Given the description of an element on the screen output the (x, y) to click on. 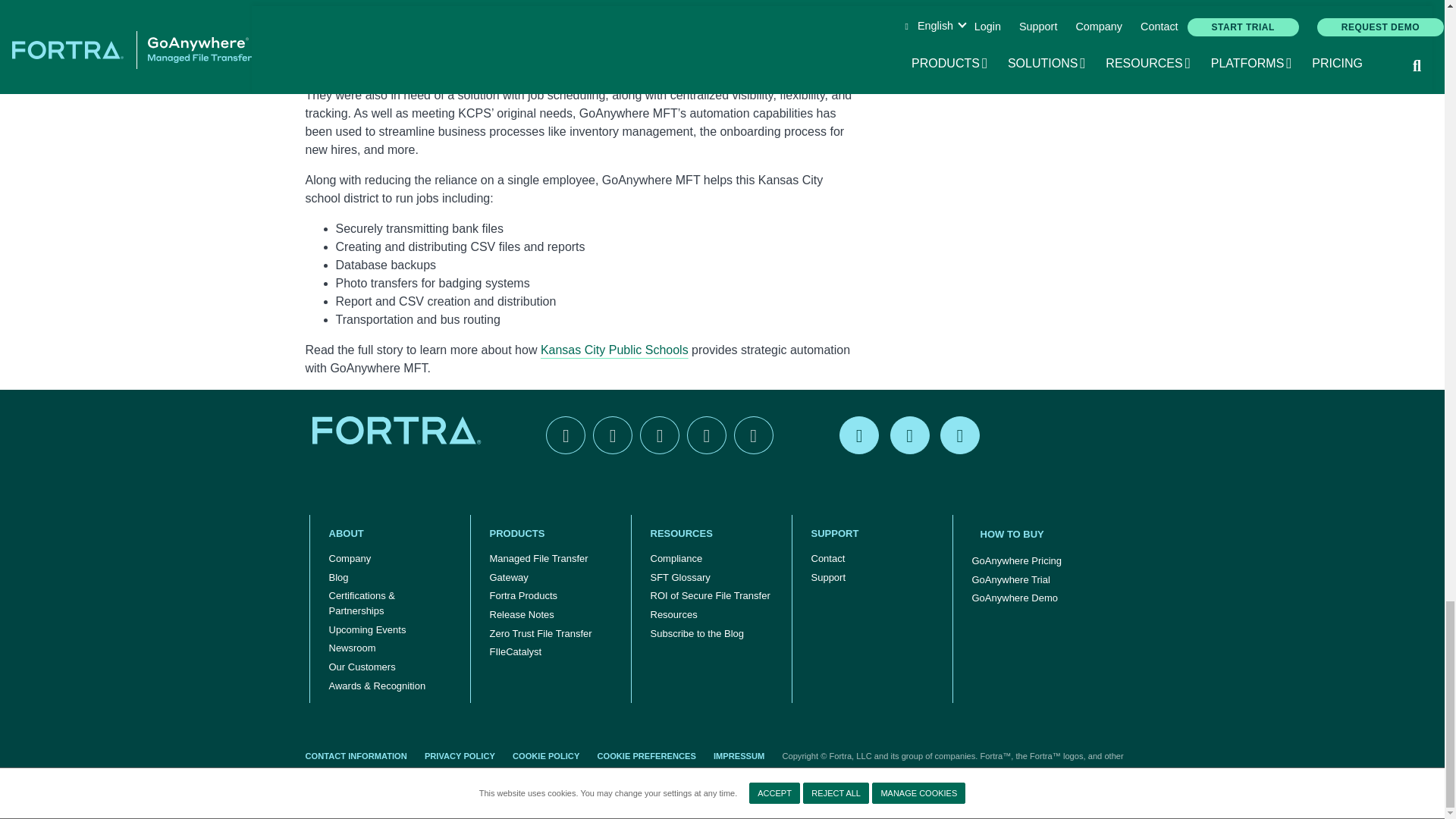
About GoAnywhere by HelpSystems (389, 533)
Home (398, 429)
GoAnywhere Customers (361, 666)
Kansas City Public Schools (614, 349)
Certifications and partnerships (389, 603)
GoAnywhere awards and recognition (376, 685)
